Given the description of an element on the screen output the (x, y) to click on. 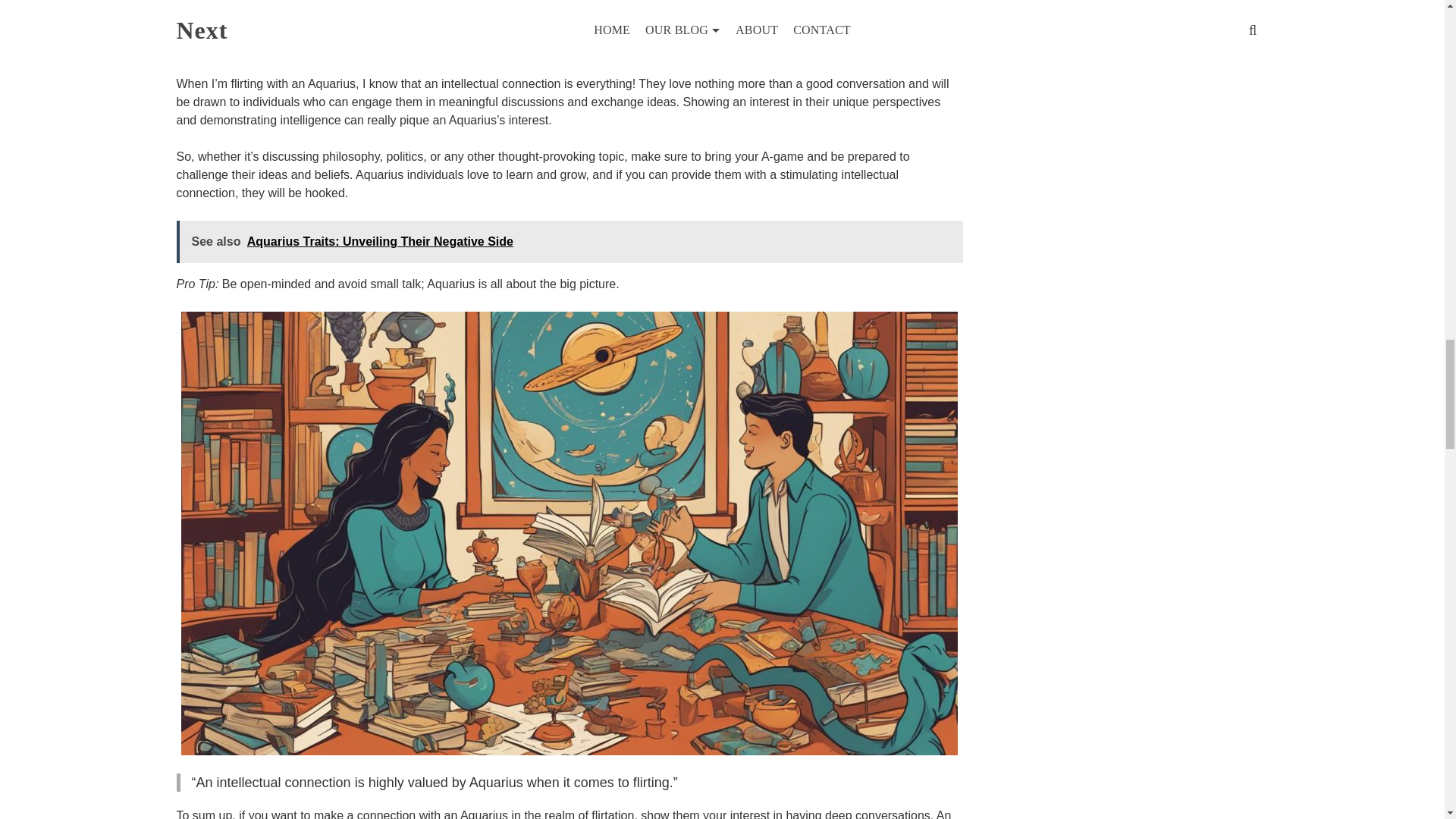
See also  Aquarius Traits: Unveiling Their Negative Side (569, 241)
